Given the description of an element on the screen output the (x, y) to click on. 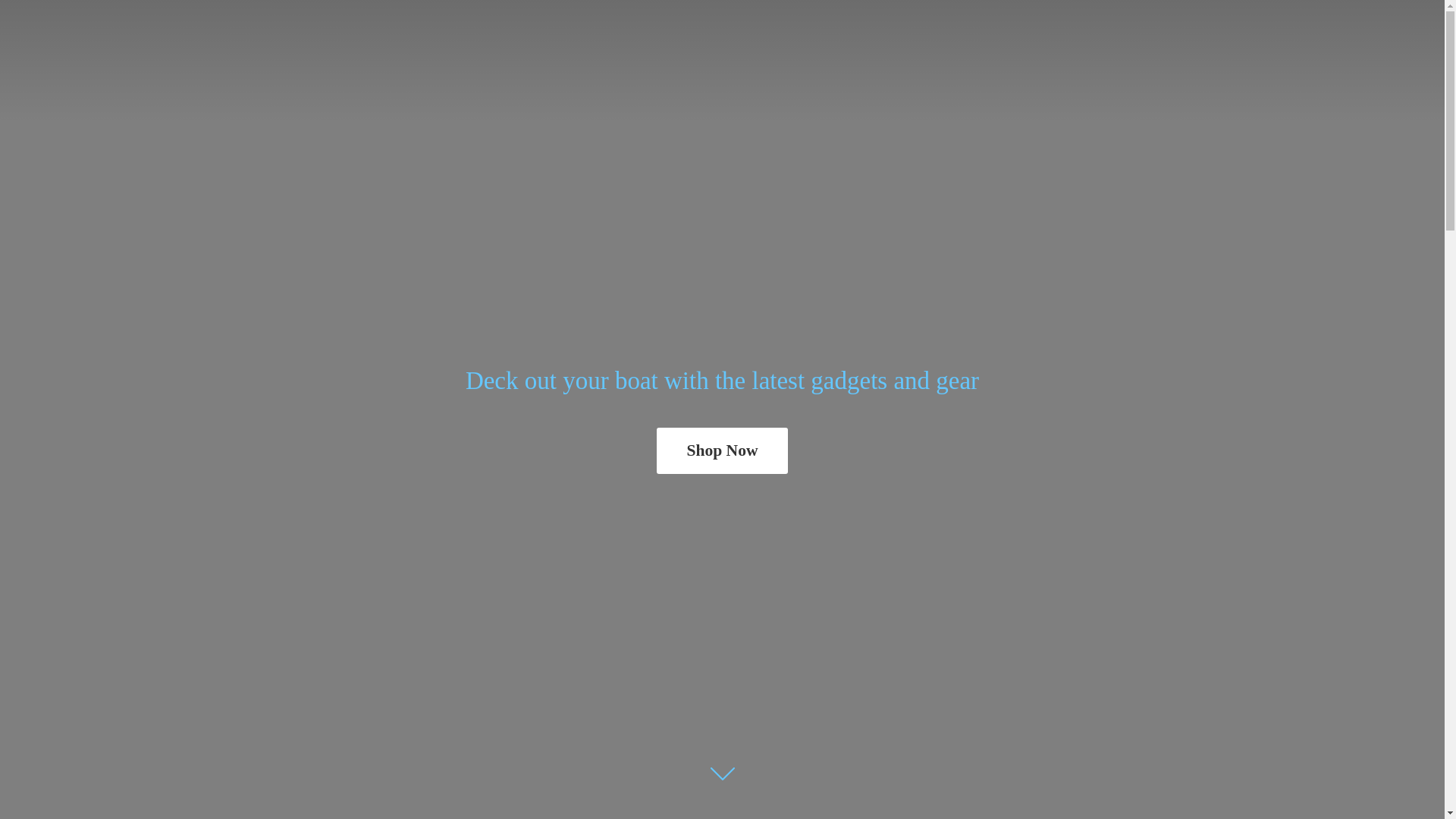
Shop Now (722, 451)
